Given the description of an element on the screen output the (x, y) to click on. 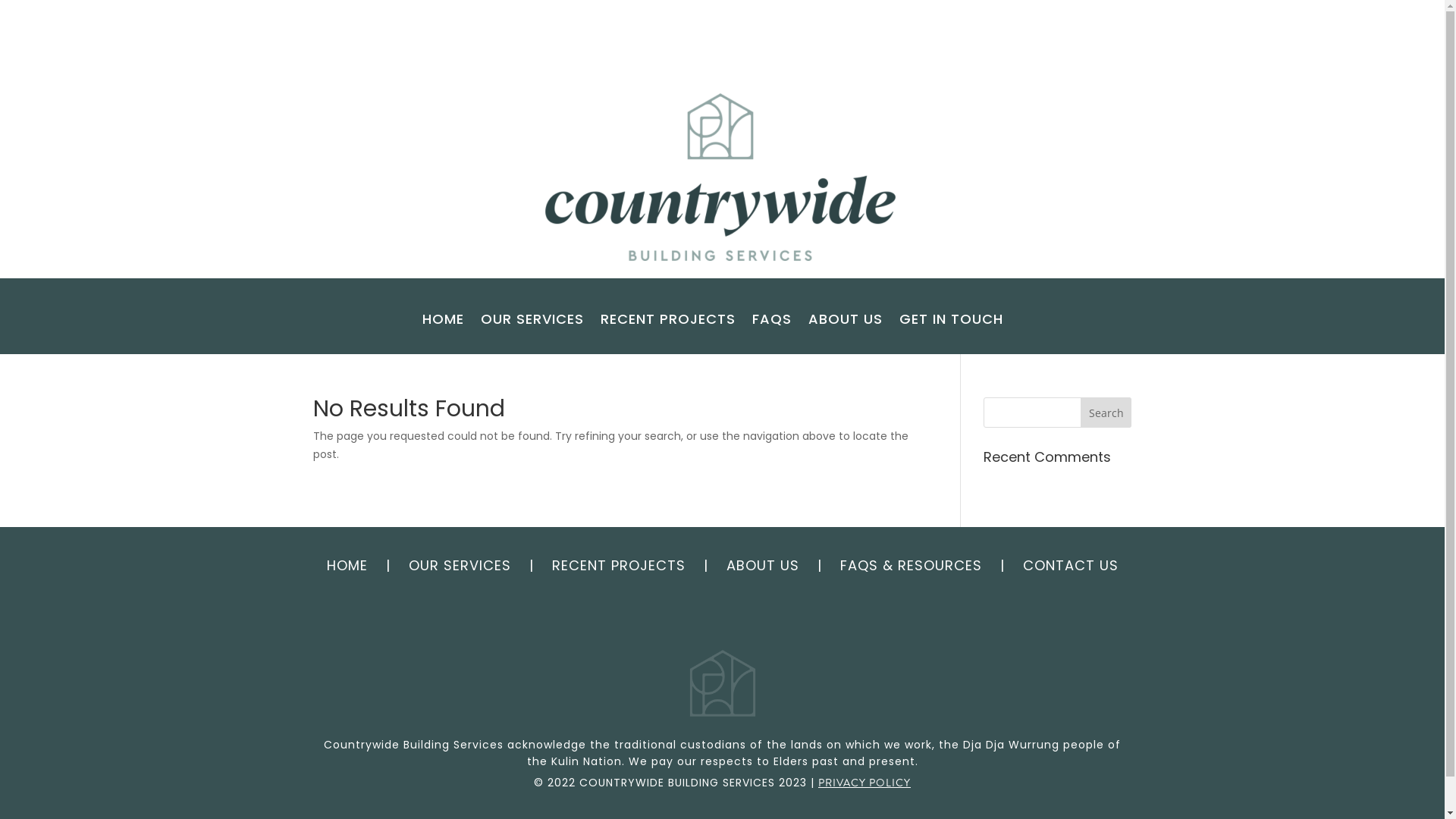
PRIVACY POLICY Element type: text (864, 782)
OUR SERVICES Element type: text (458, 564)
CONTACT US Element type: text (1069, 564)
OUR SERVICES Element type: text (531, 321)
Search Element type: text (1106, 412)
RECENT PROJECTS Element type: text (618, 564)
ABOUT US  Element type: text (764, 564)
RECENT PROJECTS Element type: text (667, 321)
FAQS & RESOURCES Element type: text (911, 564)
ABOUT US Element type: text (845, 321)
HOME Element type: text (346, 564)
CBS icon (6) Element type: hover (722, 682)
GET IN TOUCH Element type: text (951, 321)
HOME Element type: text (442, 321)
FAQS Element type: text (771, 321)
Countrywide Building Services Logo Element type: hover (722, 169)
